Given the description of an element on the screen output the (x, y) to click on. 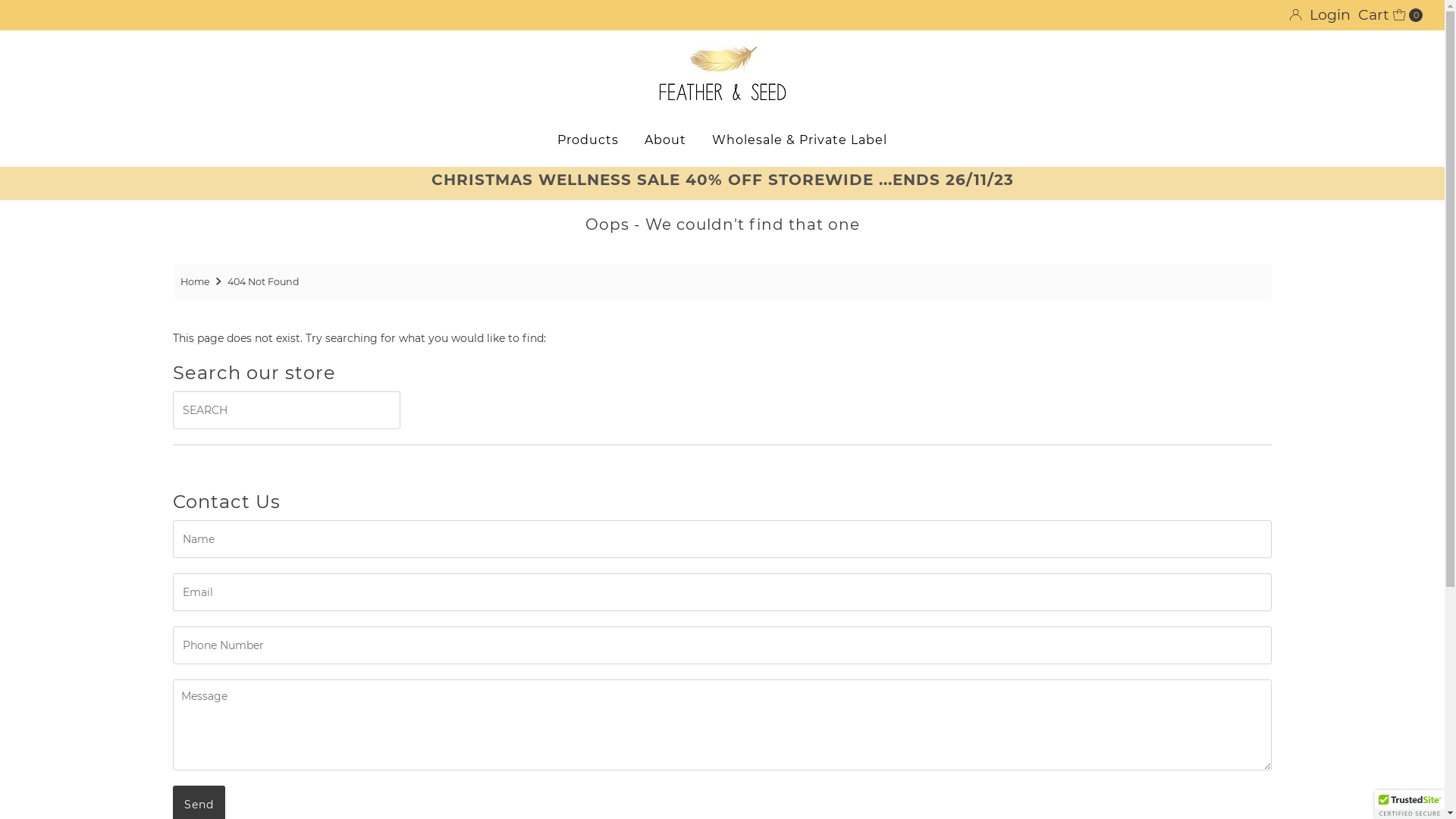
About Element type: text (665, 140)
Home Element type: text (196, 281)
Cart 
0 Element type: text (1390, 14)
Products Element type: text (588, 140)
Wholesale & Private Label Element type: text (799, 140)
Search our store Element type: hover (286, 410)
  Login Element type: text (1319, 14)
